Given the description of an element on the screen output the (x, y) to click on. 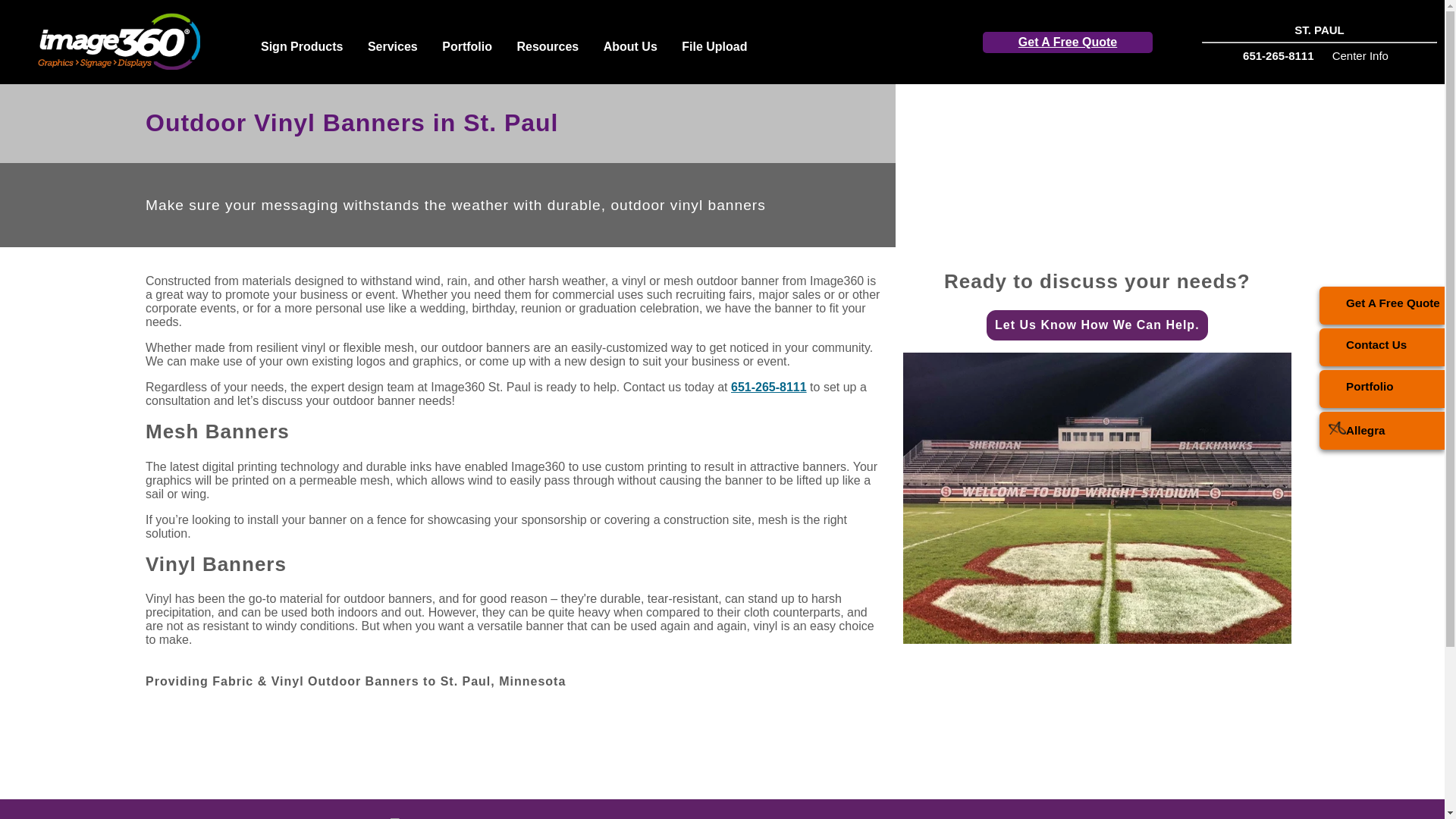
Let us know how we can help. (1097, 325)
Sign Products (301, 48)
